Given the description of an element on the screen output the (x, y) to click on. 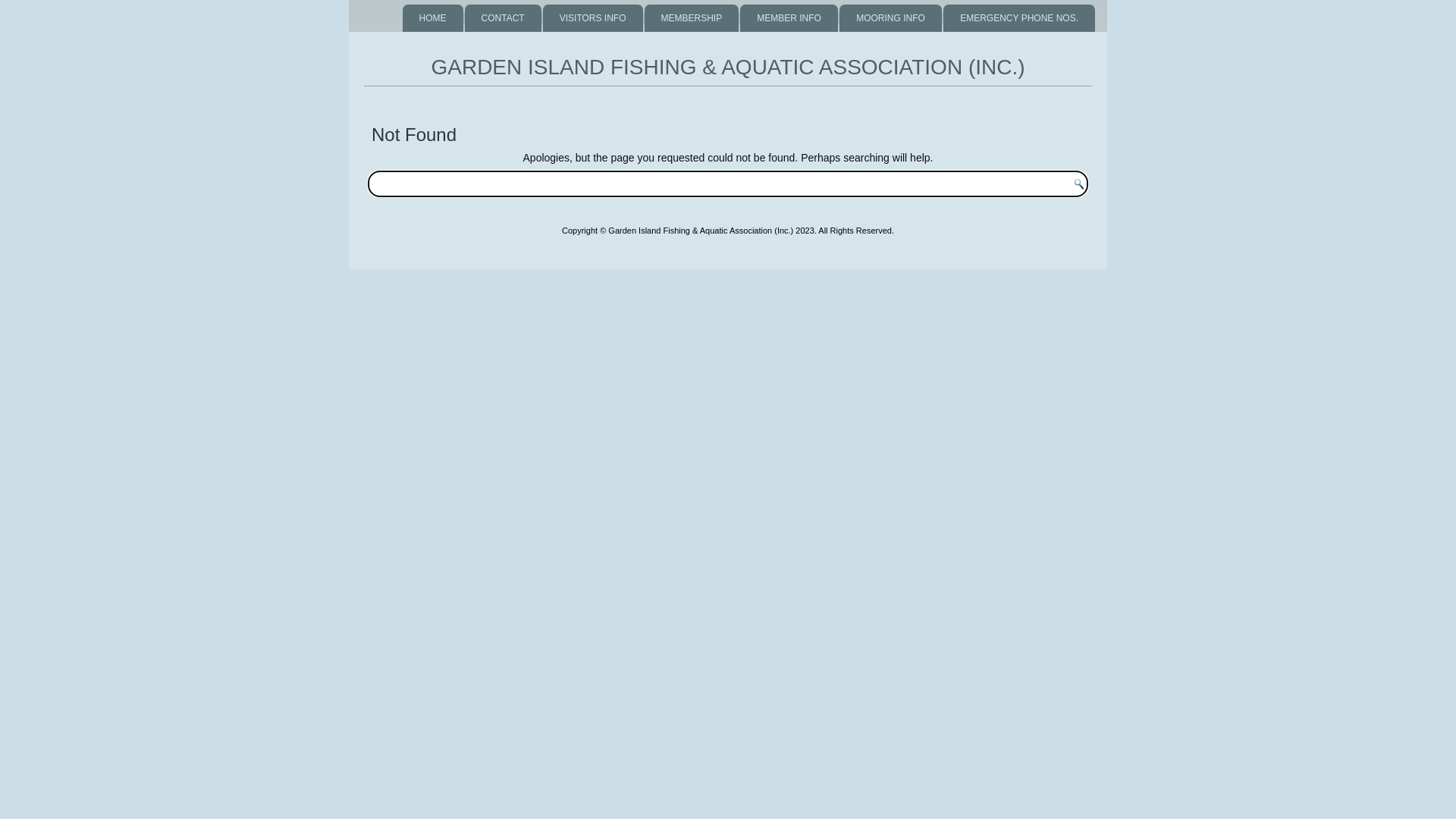
HOME Element type: text (432, 17)
VISITORS INFO Element type: text (592, 17)
MEMBER INFO Element type: text (788, 17)
CONTACT Element type: text (502, 17)
MOORING INFO Element type: text (890, 17)
EMERGENCY PHONE NOS. Element type: text (1019, 17)
MEMBERSHIP Element type: text (691, 17)
